Given the description of an element on the screen output the (x, y) to click on. 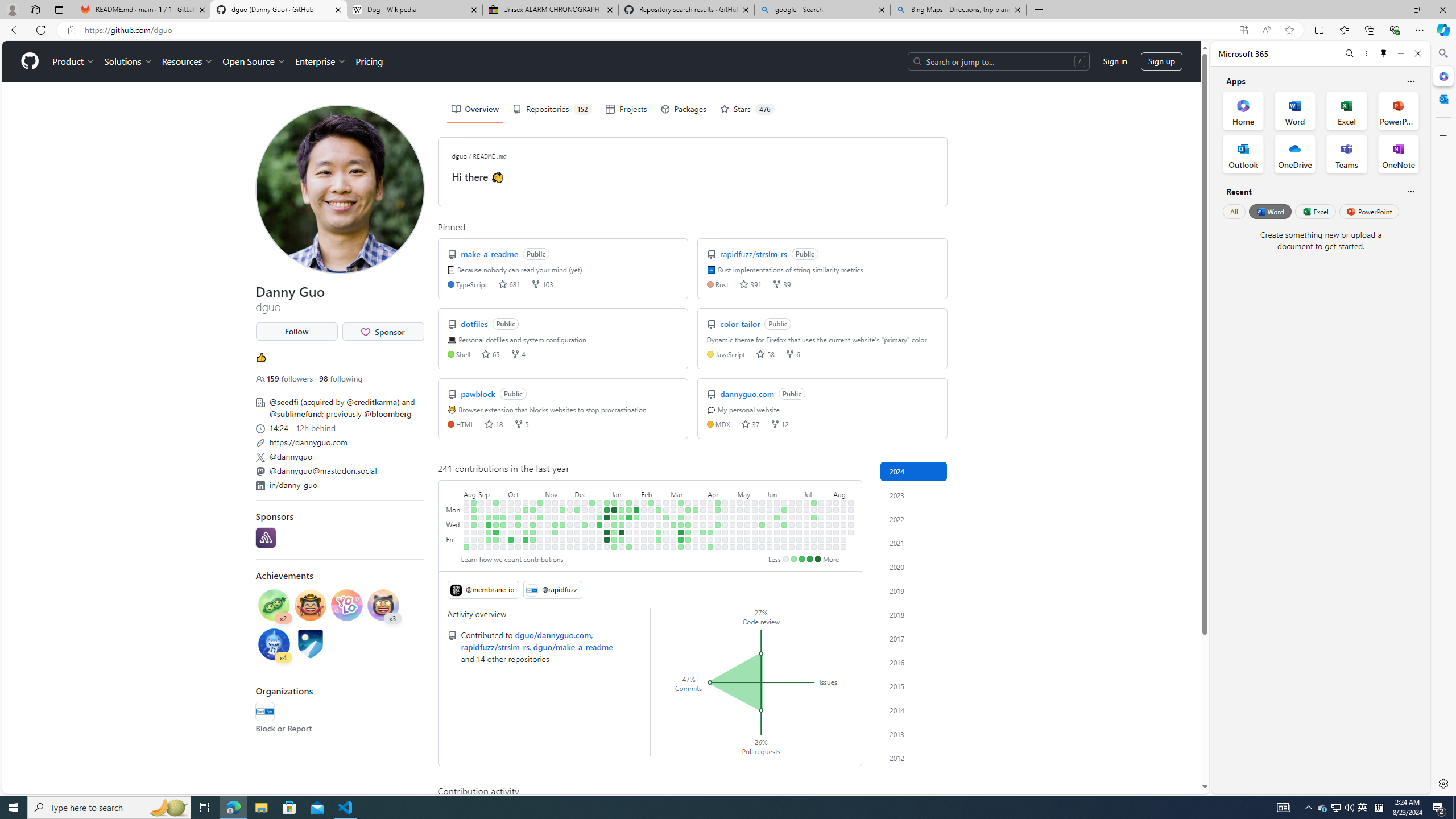
1 contribution on April 13th. (710, 546)
2024 (913, 471)
No contributions on September 2nd. (473, 546)
No contributions on November 30th. (569, 531)
View dguo's full-sized avatar (338, 188)
No contributions on December 23rd. (592, 546)
No contributions on December 30th. (599, 546)
No contributions on November 6th. (547, 509)
No contributions on April 25th. (725, 531)
2 contributions on March 18th. (688, 509)
No contributions on February 10th. (643, 546)
2 contributions on September 17th. (496, 502)
Contribution activity in 2019 (913, 590)
1 contribution on June 19th. (784, 524)
